Given the description of an element on the screen output the (x, y) to click on. 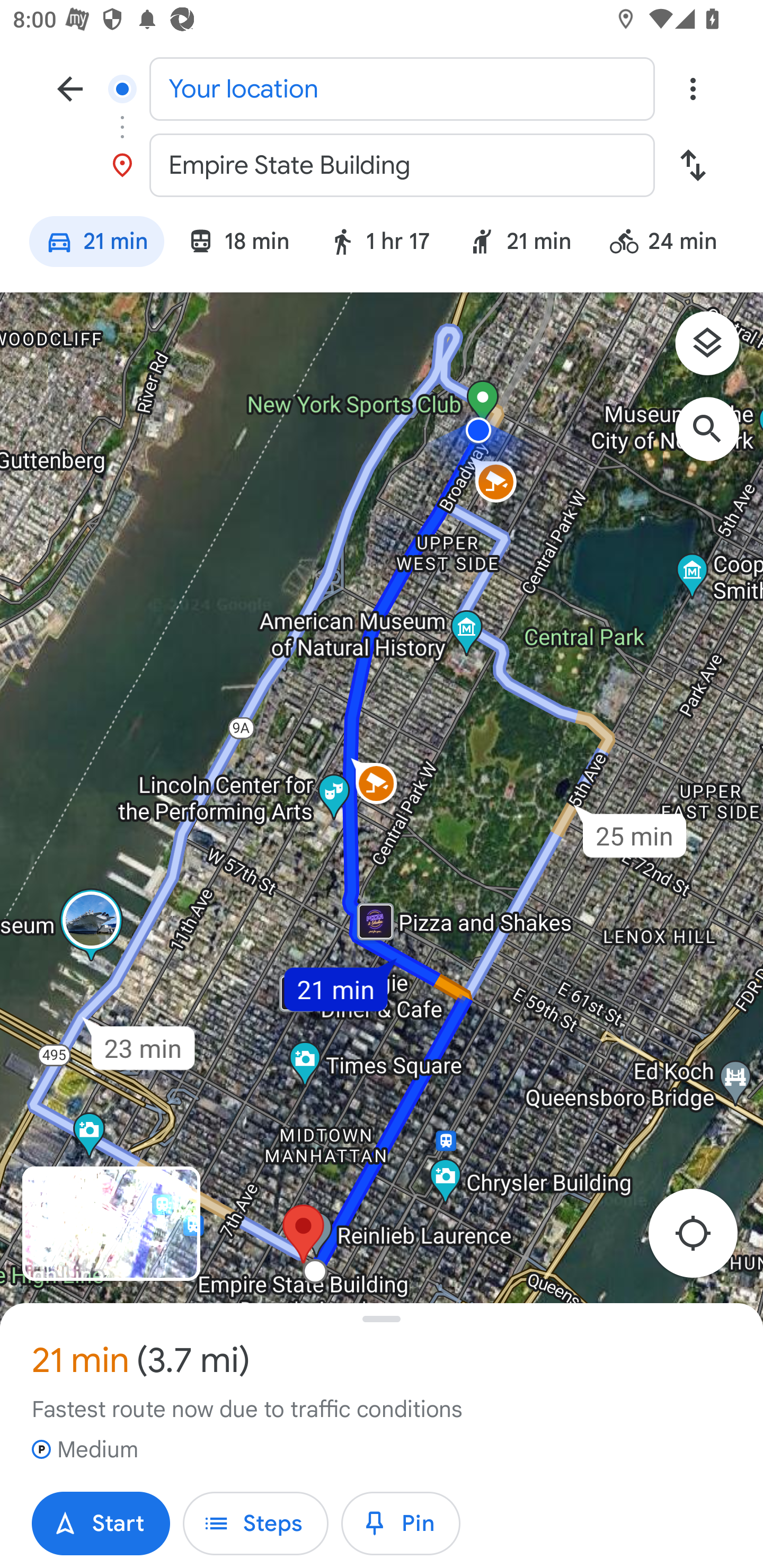
Navigate up (70, 88)
Your location Start location, Your location (381, 88)
Overflow menu (692, 88)
Swap start and destination (692, 165)
Transit mode: 18 min 18 min (238, 244)
Walking mode: 1 hr 17 1 hr 17 (379, 244)
Ride service: 21 min 21 min (519, 244)
Bicycling mode: 24 min 24 min (671, 244)
Layers (716, 349)
Search along route (716, 438)
Open Immersive View for routes (110, 1223)
Re-center map to your location (702, 1238)
Steps Steps Steps (255, 1522)
Pin trip Pin Pin trip (400, 1522)
